Given the description of an element on the screen output the (x, y) to click on. 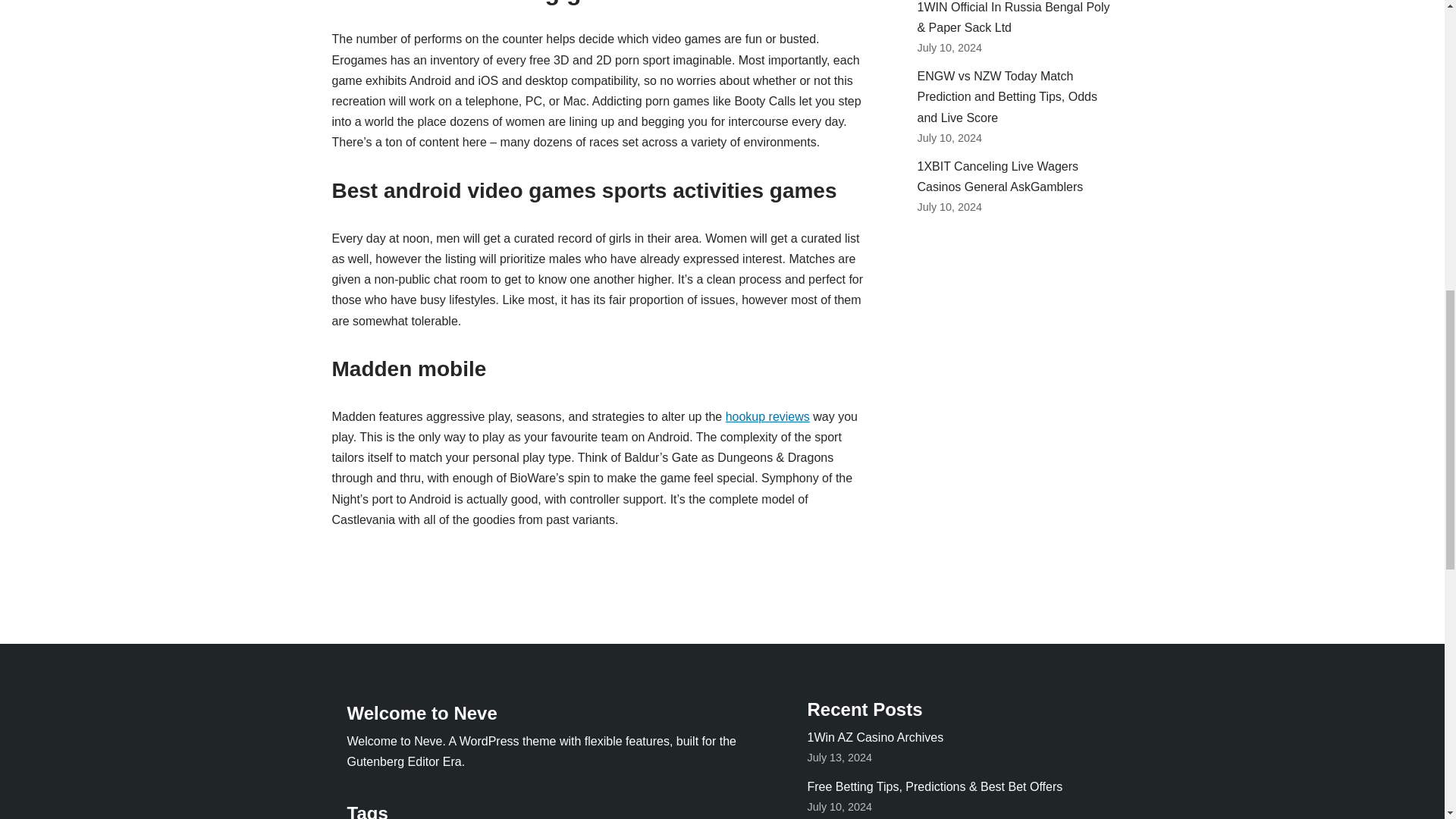
1Win AZ Casino Archives (874, 737)
hookup reviews (767, 416)
1XBIT Canceling Live Wagers Casinos General AskGamblers (1000, 176)
